Given the description of an element on the screen output the (x, y) to click on. 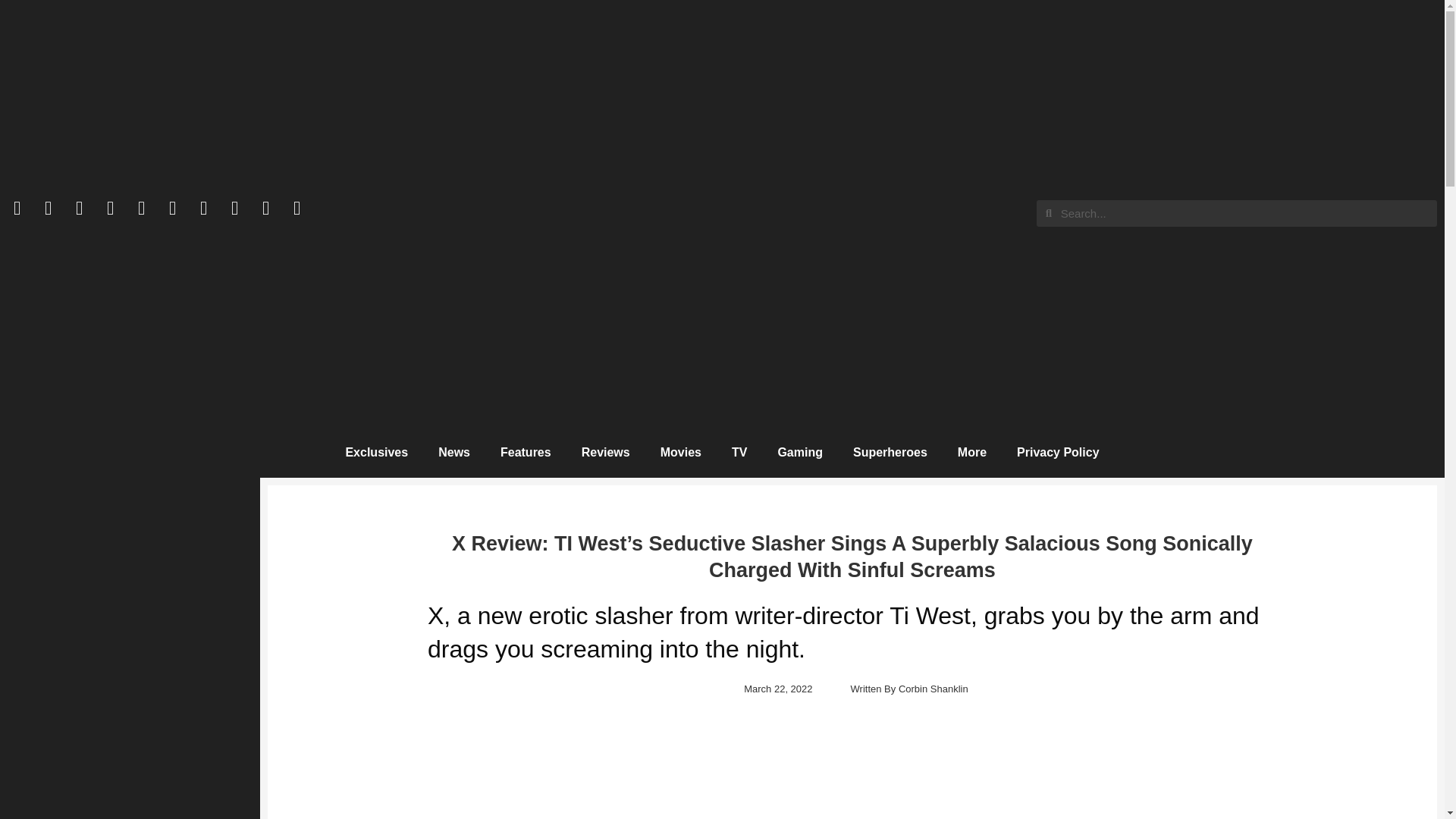
TV (738, 452)
Gaming (799, 452)
Movies (680, 452)
Superheroes (890, 452)
More (971, 452)
News (453, 452)
Exclusives (376, 452)
Privacy Policy (1058, 452)
Features (525, 452)
Reviews (605, 452)
